Given the description of an element on the screen output the (x, y) to click on. 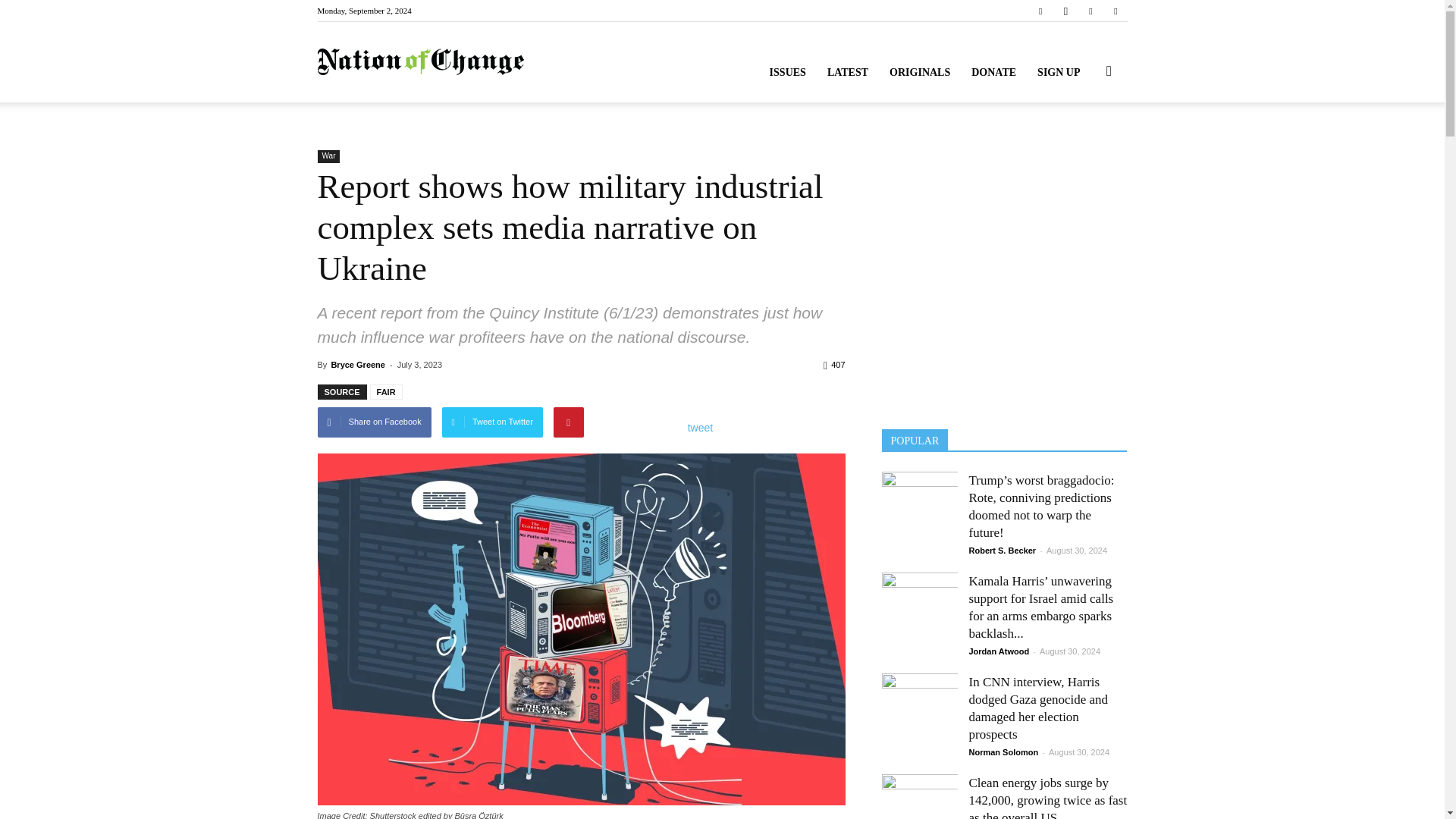
Facebook (1040, 10)
NationofChange (419, 61)
Instagram (1065, 10)
ISSUES (787, 72)
Twitter (1090, 10)
Youtube (1114, 10)
